Given the description of an element on the screen output the (x, y) to click on. 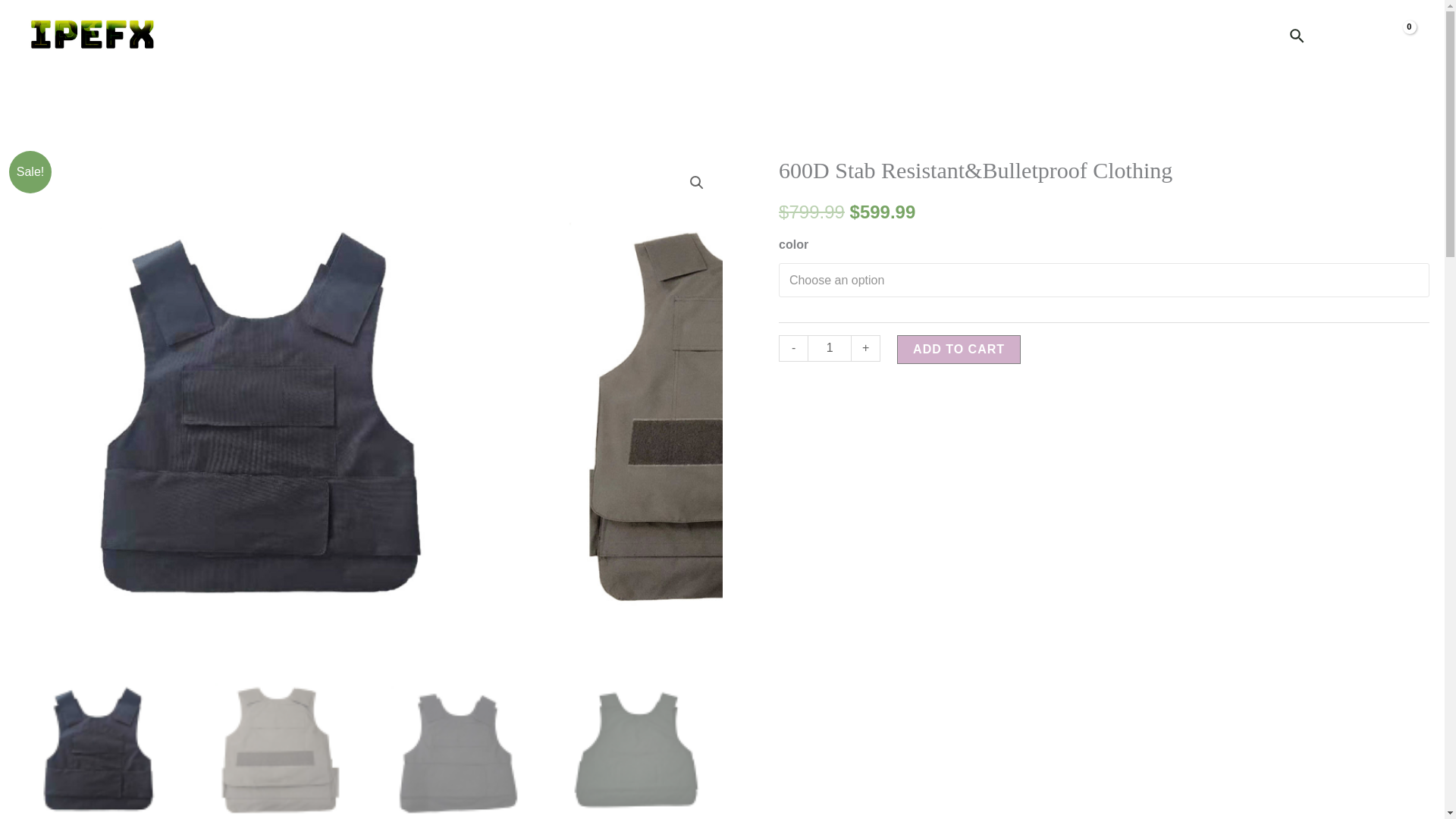
1 (829, 347)
CONTACT (1146, 34)
- (793, 347)
Qty (829, 347)
ADD TO CART (958, 348)
HOME (1026, 34)
ABOUT US (1231, 34)
